Given the description of an element on the screen output the (x, y) to click on. 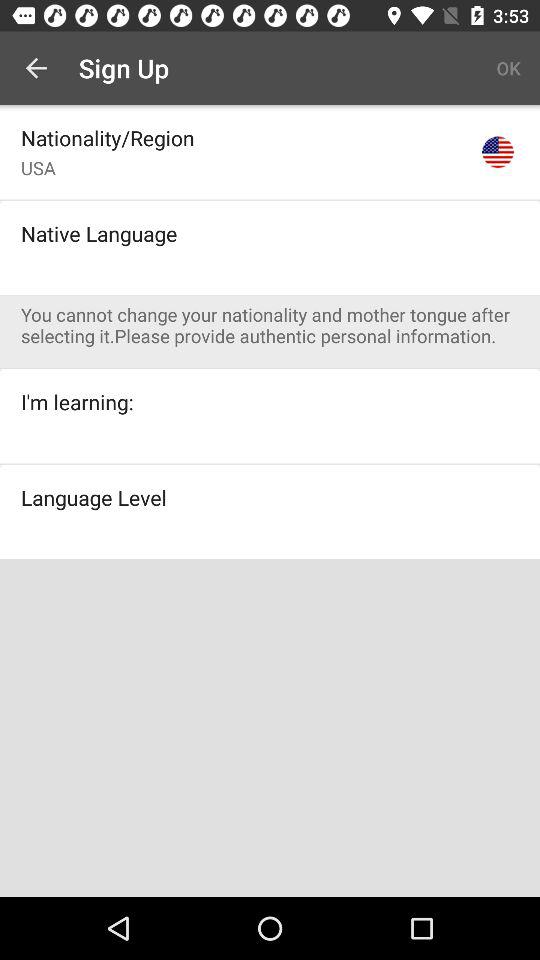
click icon to the right of nationality/region item (497, 151)
